Given the description of an element on the screen output the (x, y) to click on. 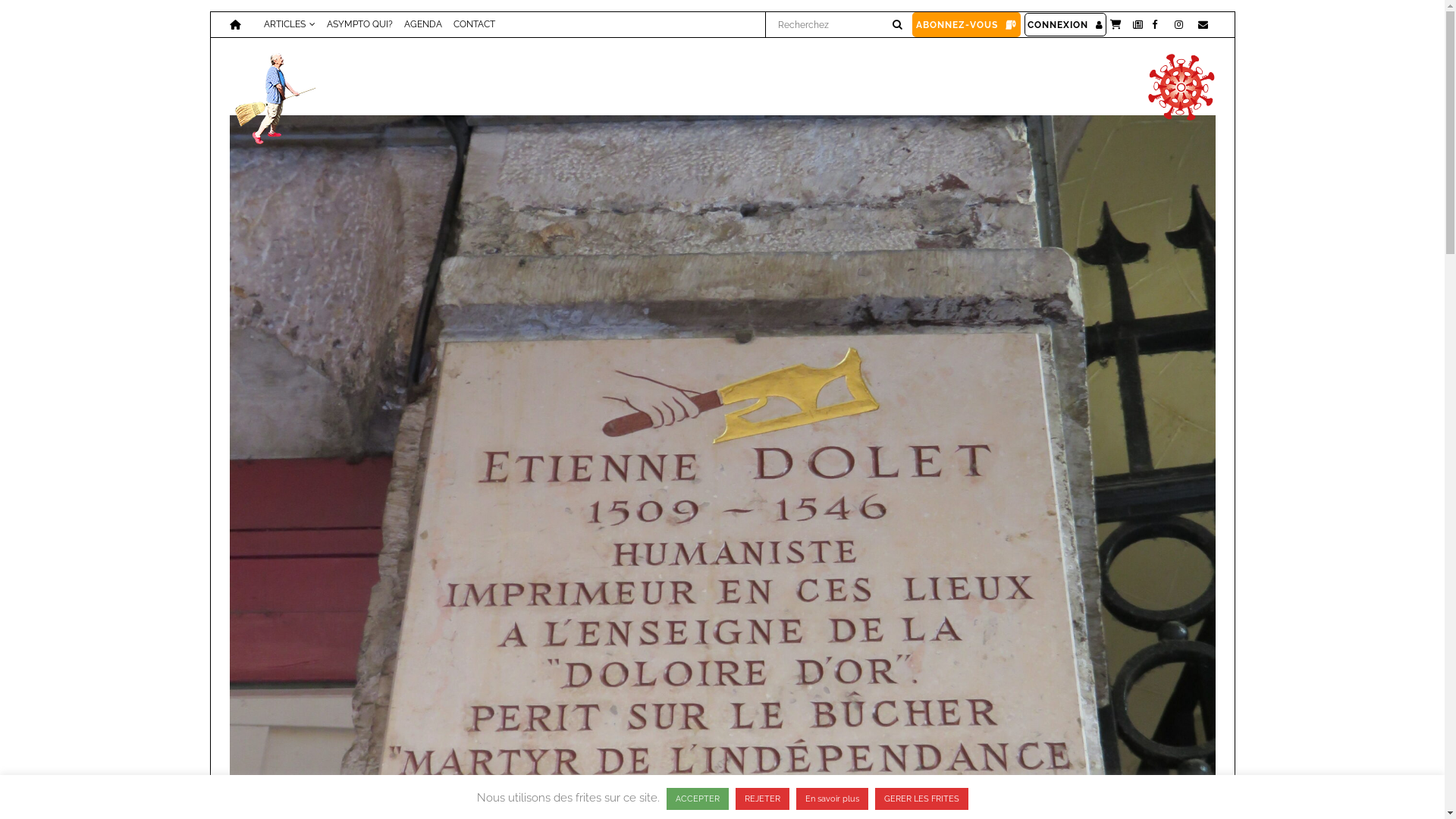
Panier Element type: hover (1115, 24)
AGENDA Element type: text (417, 24)
Newsletter Element type: hover (1137, 24)
ABONNEZ-VOUS Element type: text (965, 24)
ASYMPTO QUI? Element type: text (353, 24)
ACCEPTER Element type: text (696, 798)
GERER LES FRITES Element type: text (921, 798)
ARTICLES Element type: text (282, 24)
CONTACT Element type: text (467, 24)
CONNEXION Element type: text (1064, 24)
REJETER Element type: text (762, 798)
En savoir plus Element type: text (832, 798)
